Given the description of an element on the screen output the (x, y) to click on. 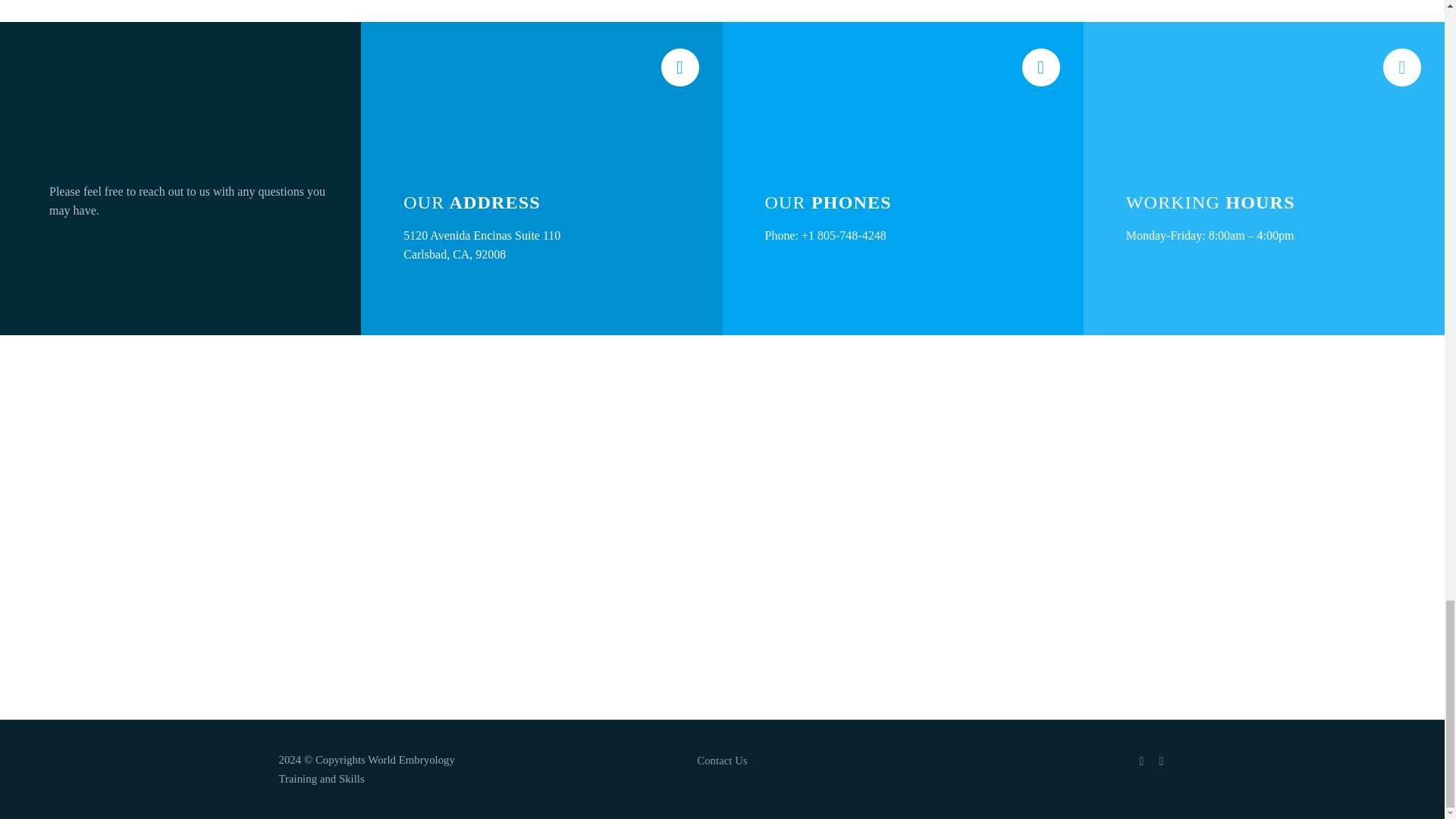
YouTube (1161, 761)
Instagram (1141, 761)
